Given the description of an element on the screen output the (x, y) to click on. 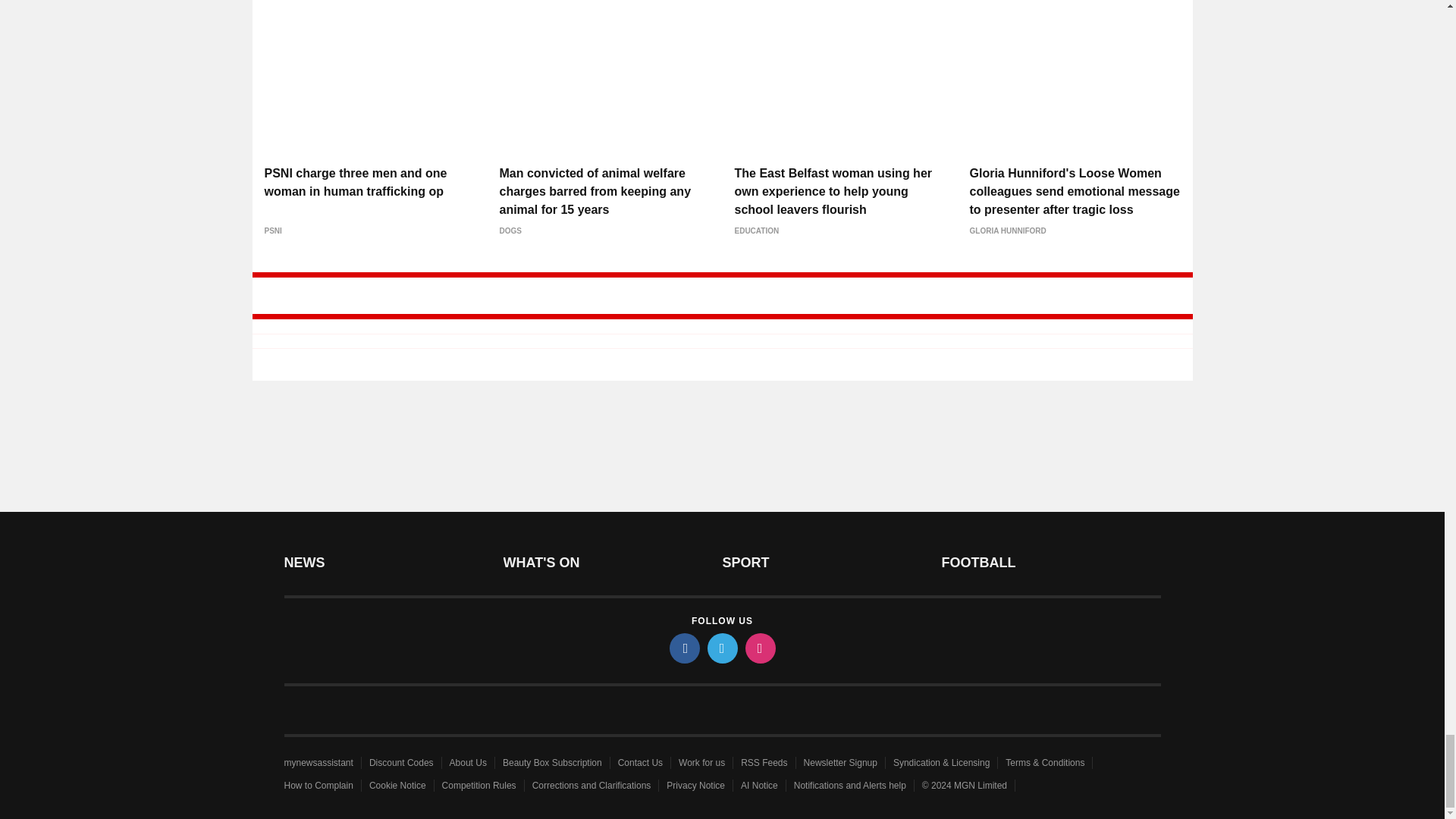
twitter (721, 648)
instagram (759, 648)
facebook (683, 648)
